Given the description of an element on the screen output the (x, y) to click on. 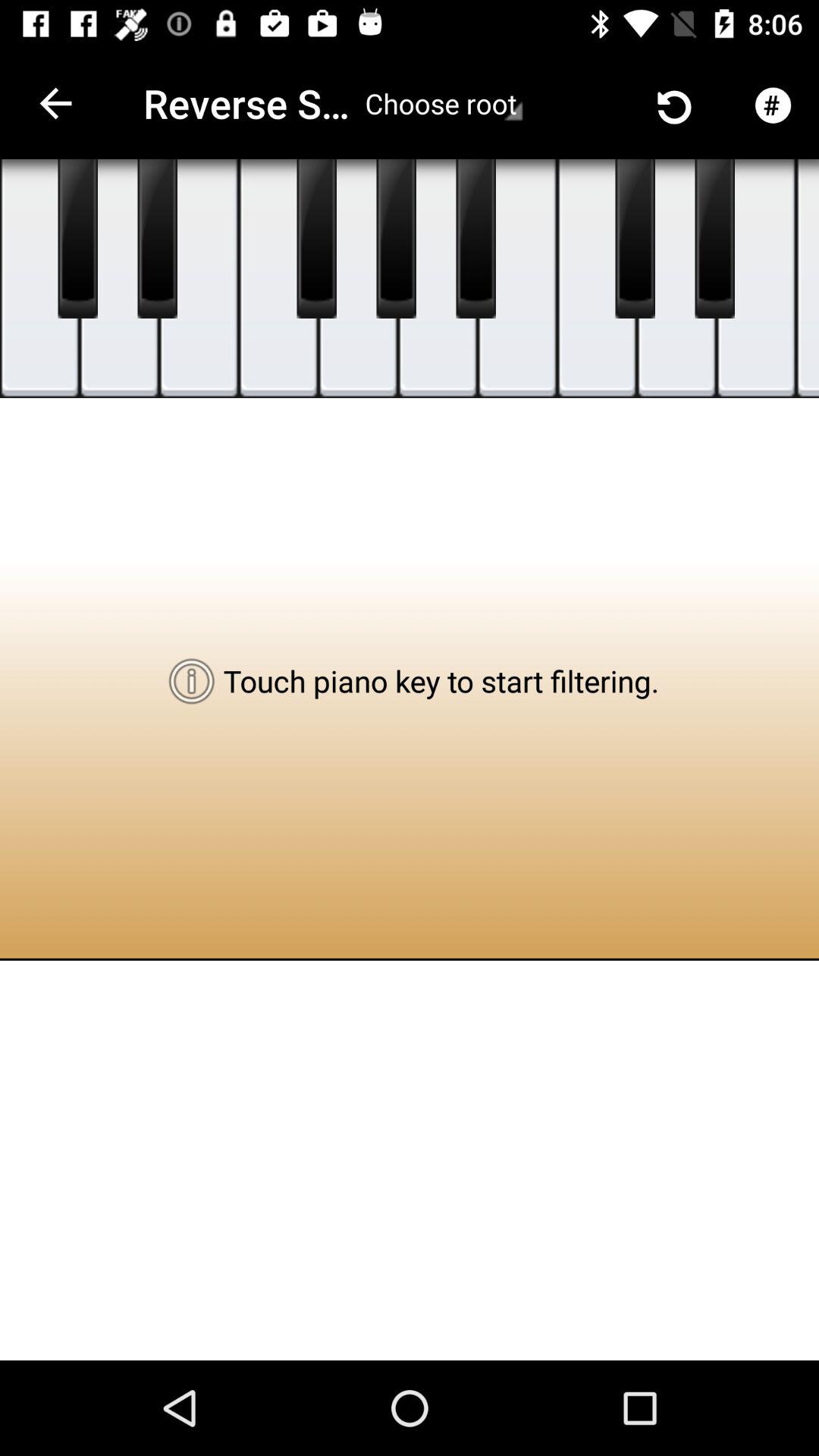
touch piano key (396, 238)
